Given the description of an element on the screen output the (x, y) to click on. 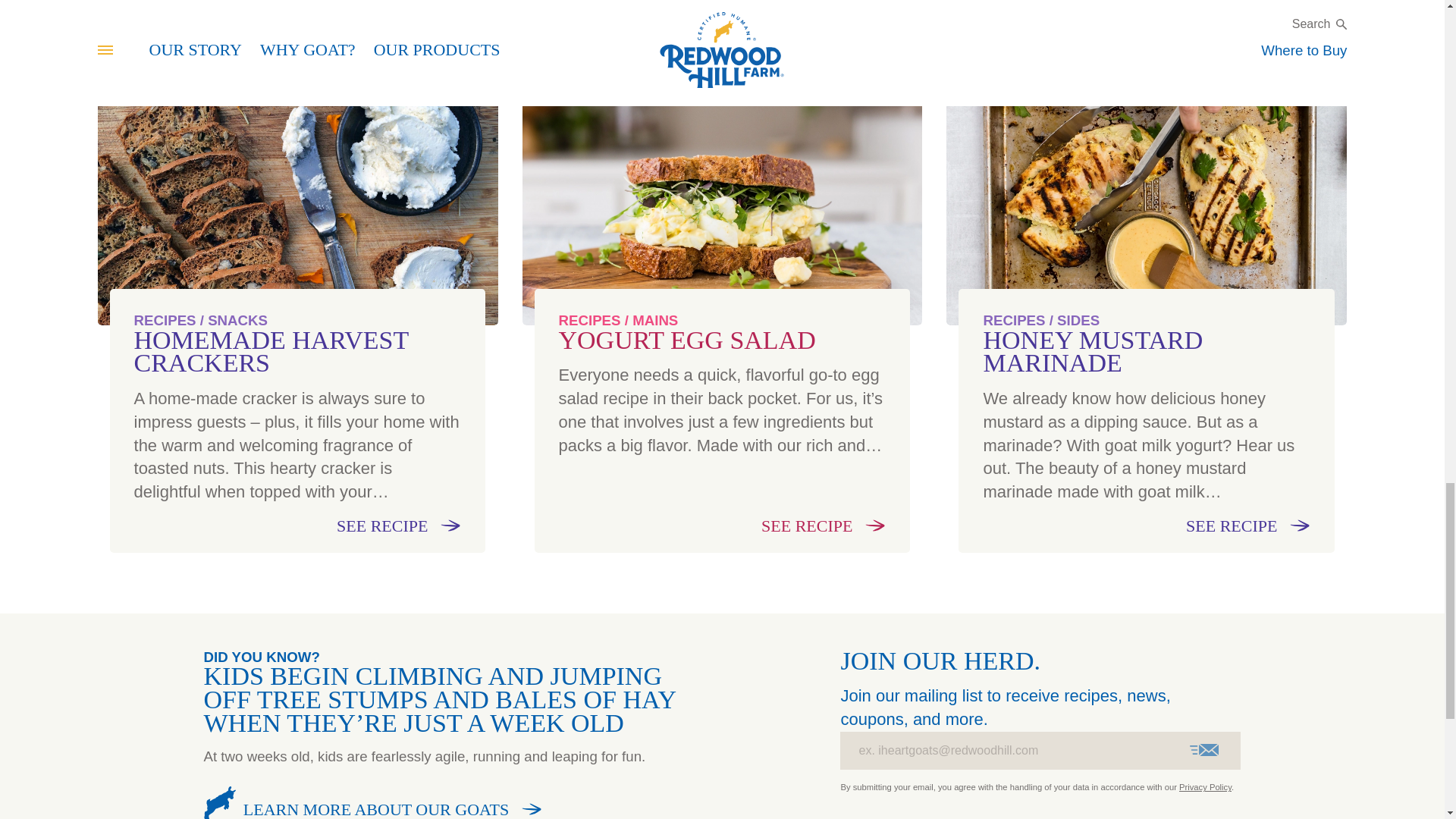
Submit (1204, 749)
